Given the description of an element on the screen output the (x, y) to click on. 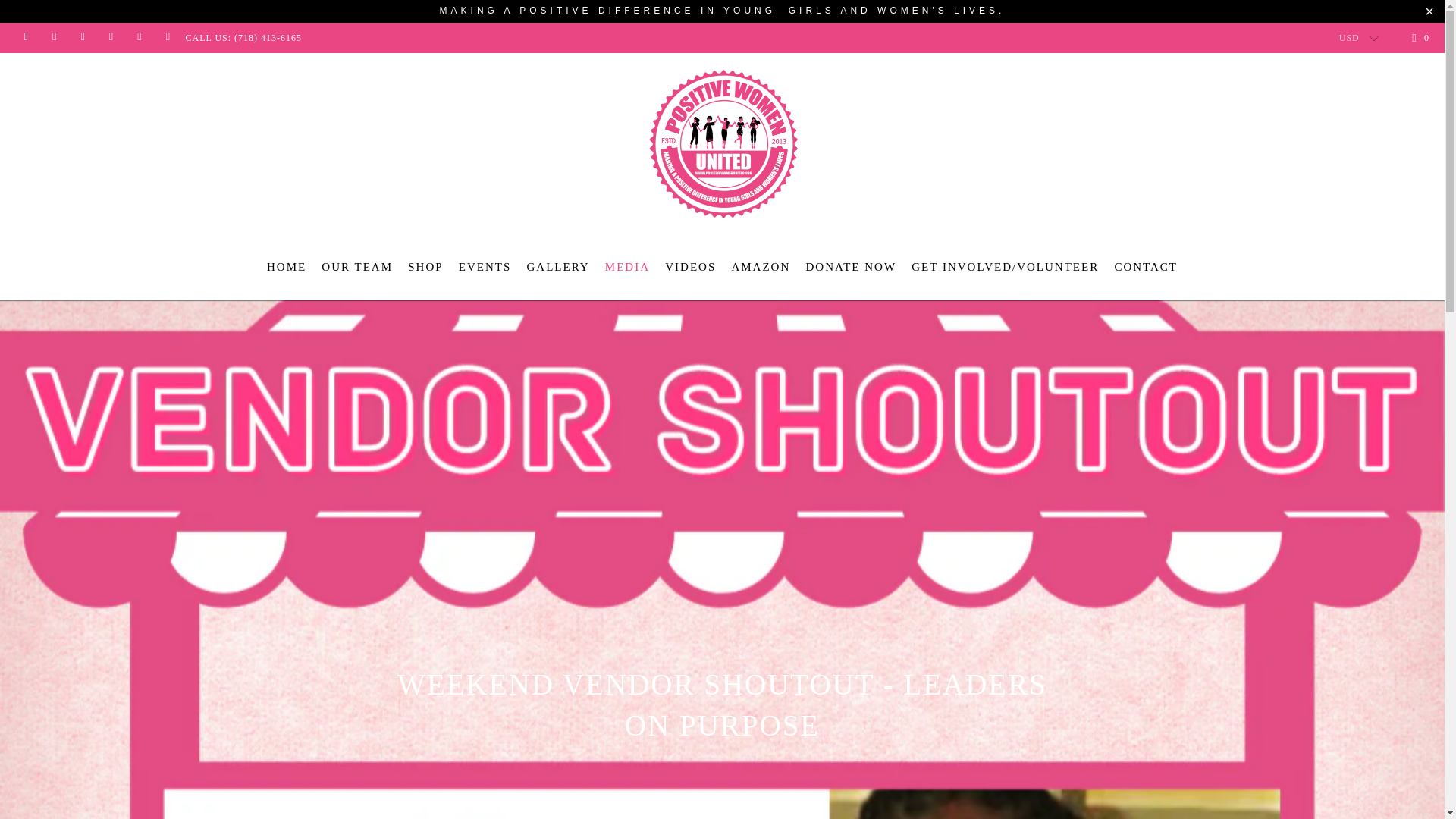
GALLERY (557, 266)
AMAZON (760, 266)
VIDEOS (690, 266)
MEDIA (627, 266)
EVENTS (485, 266)
HOME (285, 266)
